Given the description of an element on the screen output the (x, y) to click on. 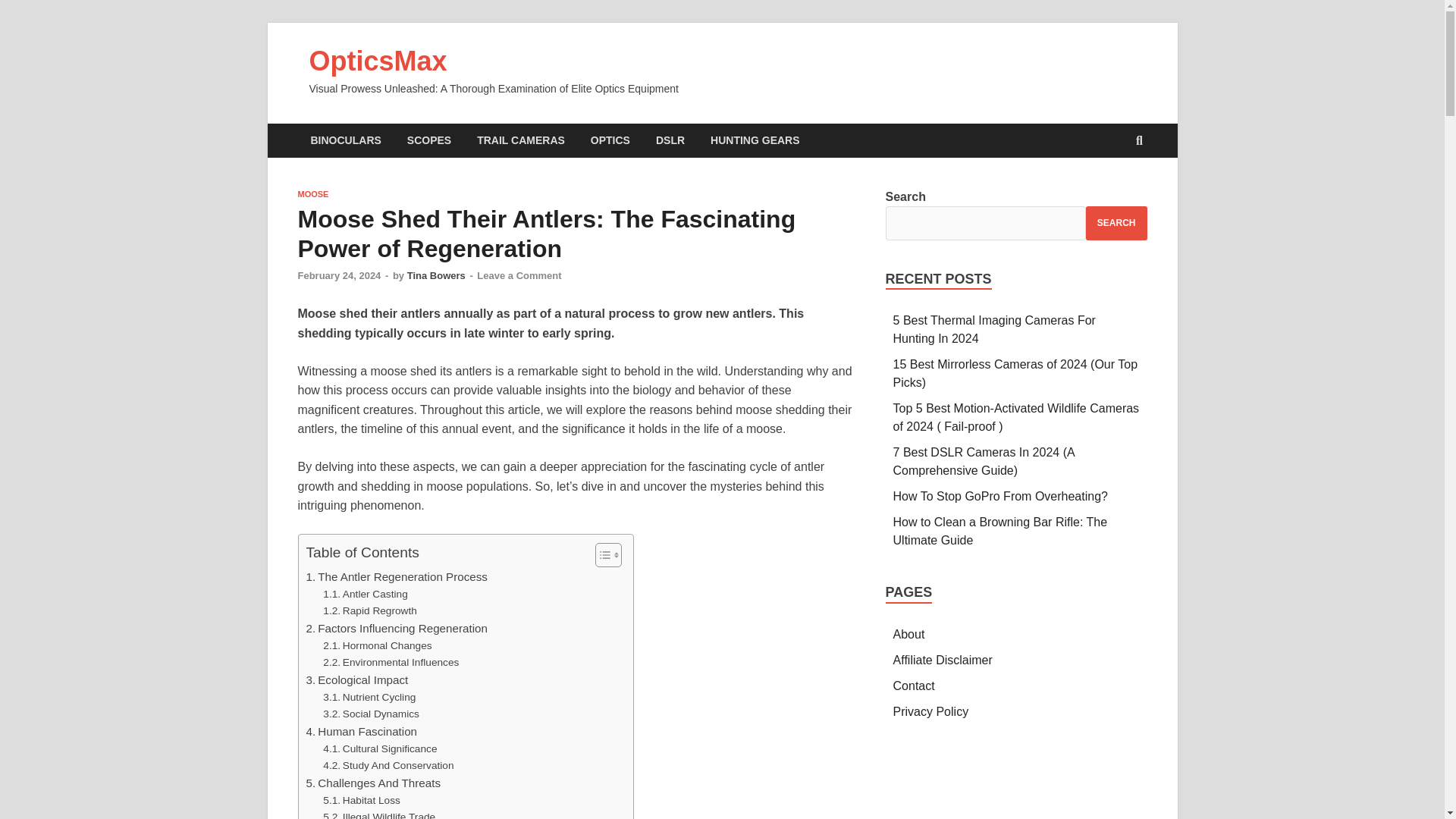
Human Fascination (361, 731)
Hormonal Changes (376, 646)
Antler Casting (365, 594)
Factors Influencing Regeneration (396, 628)
Tina Bowers (436, 275)
Nutrient Cycling (368, 697)
BINOCULARS (345, 140)
Human Fascination (361, 731)
SCOPES (429, 140)
Social Dynamics (371, 713)
Rapid Regrowth (369, 610)
The Antler Regeneration Process (396, 577)
MOOSE (313, 194)
Leave a Comment (518, 275)
OpticsMax (377, 60)
